Given the description of an element on the screen output the (x, y) to click on. 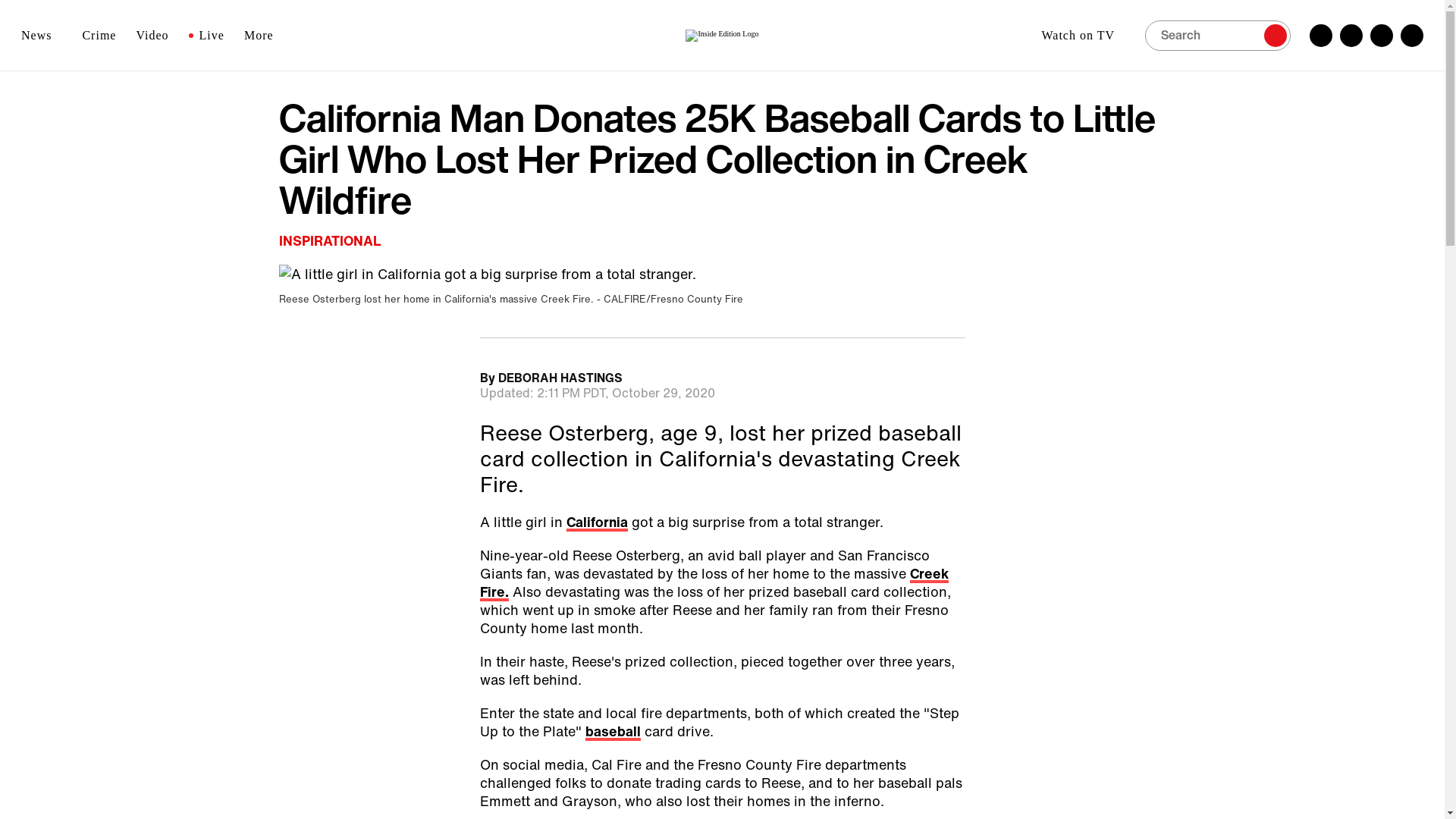
Video (151, 35)
News (41, 35)
Live (206, 35)
More (263, 35)
Crime (98, 35)
Enter the terms you wish to search for. (1217, 34)
Watch on TV (1083, 35)
